Given the description of an element on the screen output the (x, y) to click on. 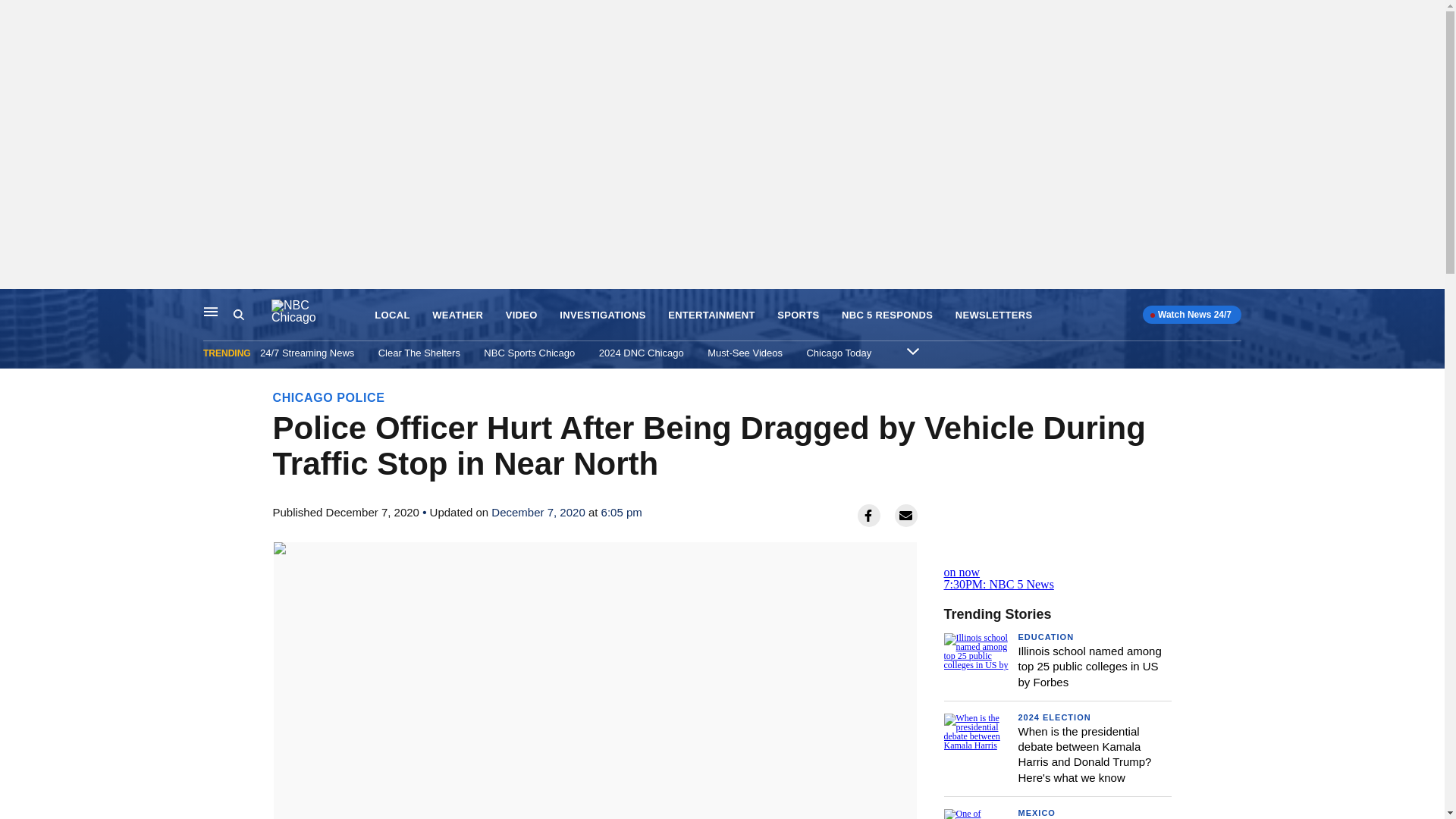
NBC 5 RESPONDS (887, 315)
Must-See Videos (745, 352)
LOCAL (391, 315)
Skip to content (16, 304)
SPORTS (797, 315)
WEATHER (457, 315)
Search (238, 314)
Chicago Today (838, 352)
CHICAGO POLICE (329, 397)
